Given the description of an element on the screen output the (x, y) to click on. 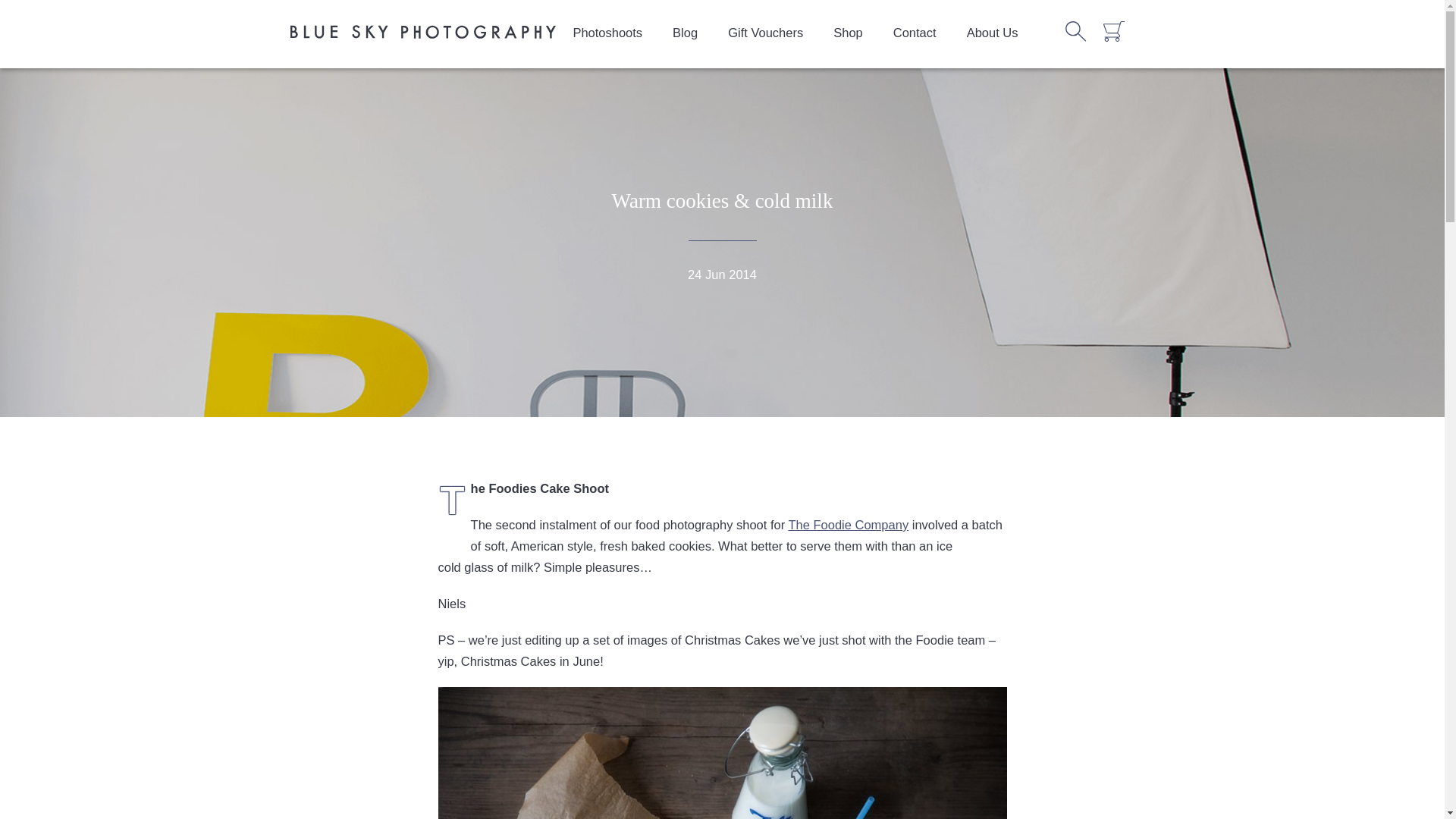
Photoshoots (607, 32)
About Us (992, 32)
Blog (685, 32)
Shop (847, 32)
Gift Vouchers (765, 32)
Contact (914, 32)
